Given the description of an element on the screen output the (x, y) to click on. 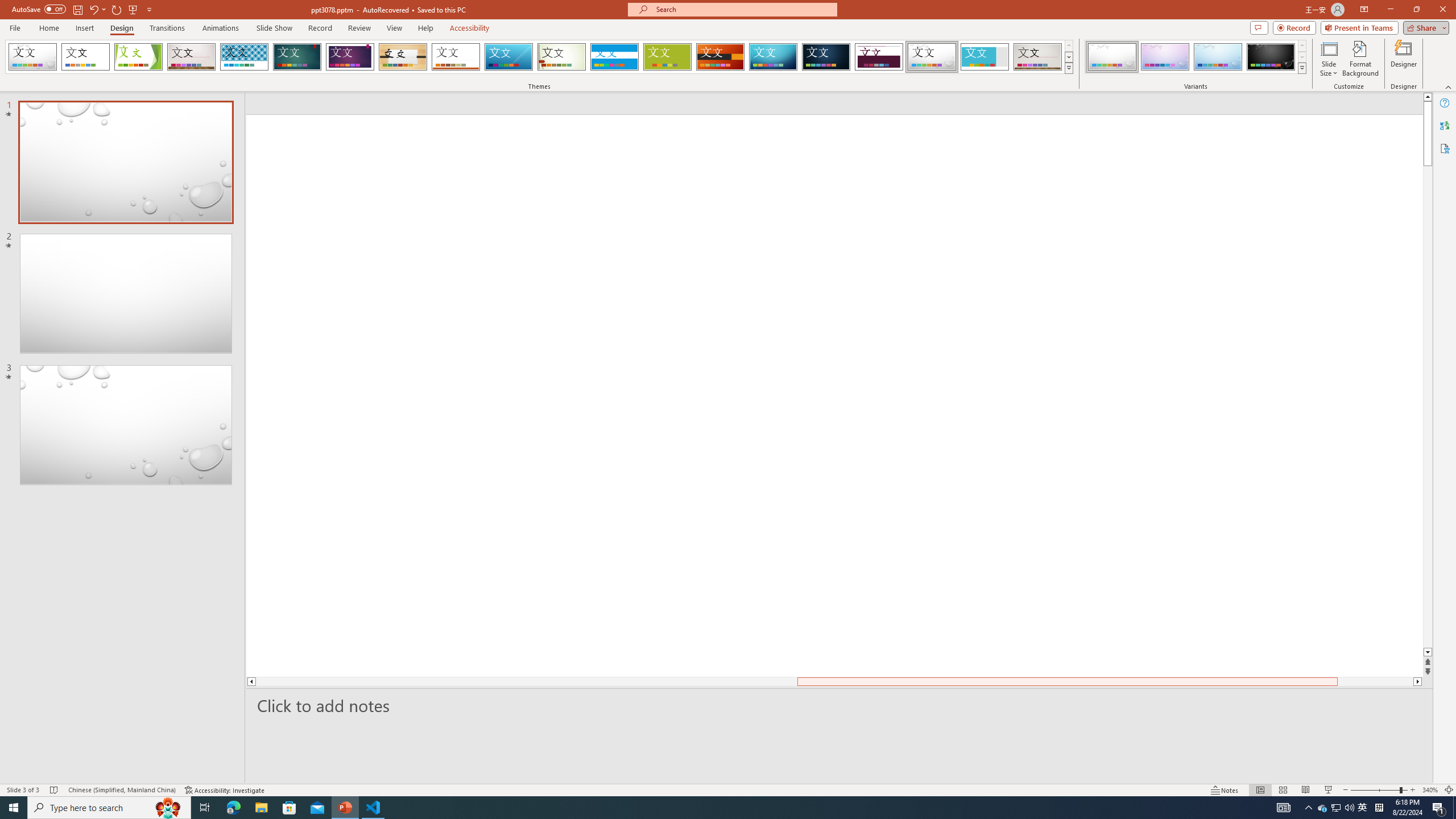
Organic (403, 56)
Retrospect (455, 56)
Droplet Variant 2 (1164, 56)
Droplet (931, 56)
